Given the description of an element on the screen output the (x, y) to click on. 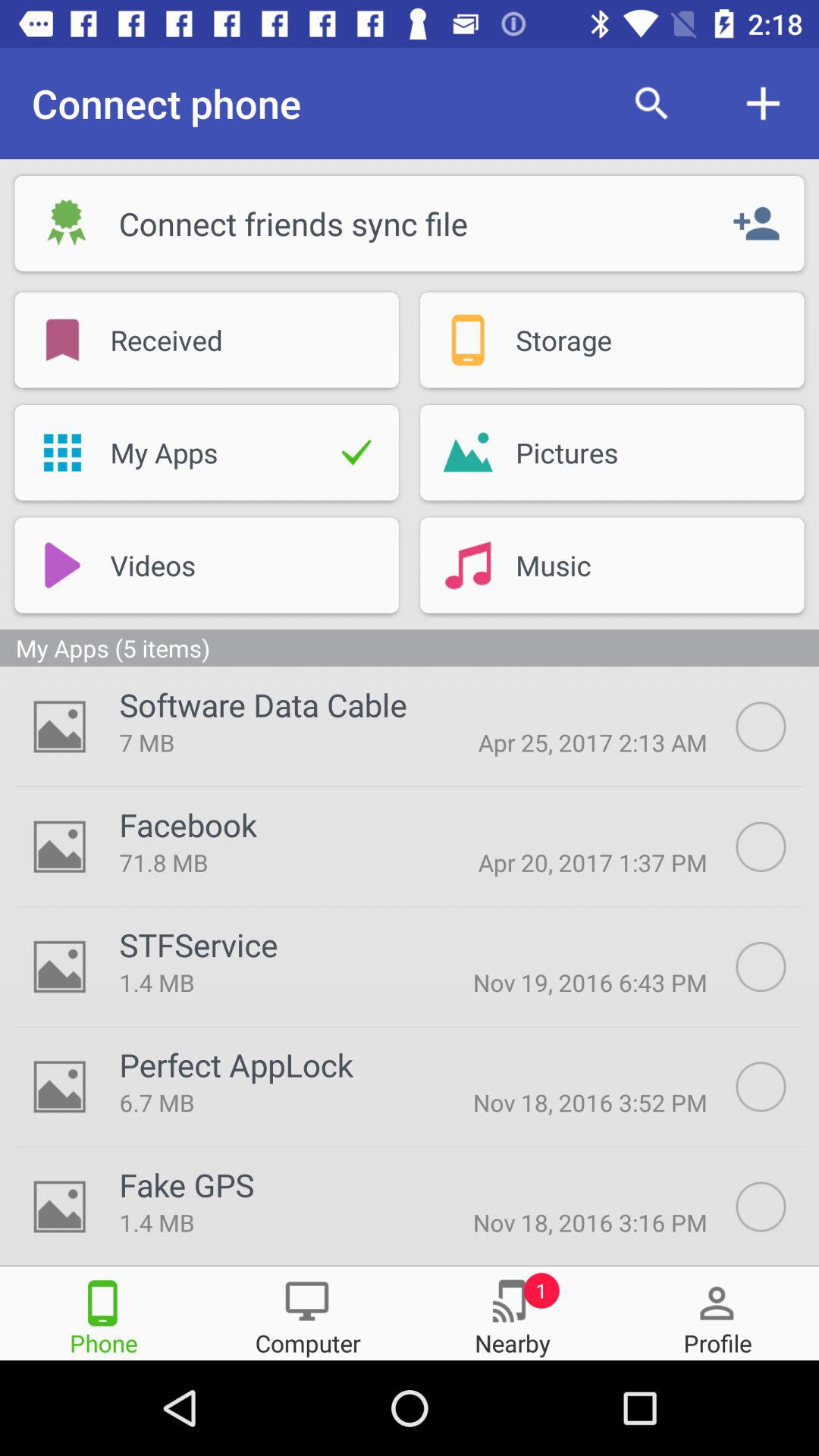
turn off software data cable app (263, 704)
